Given the description of an element on the screen output the (x, y) to click on. 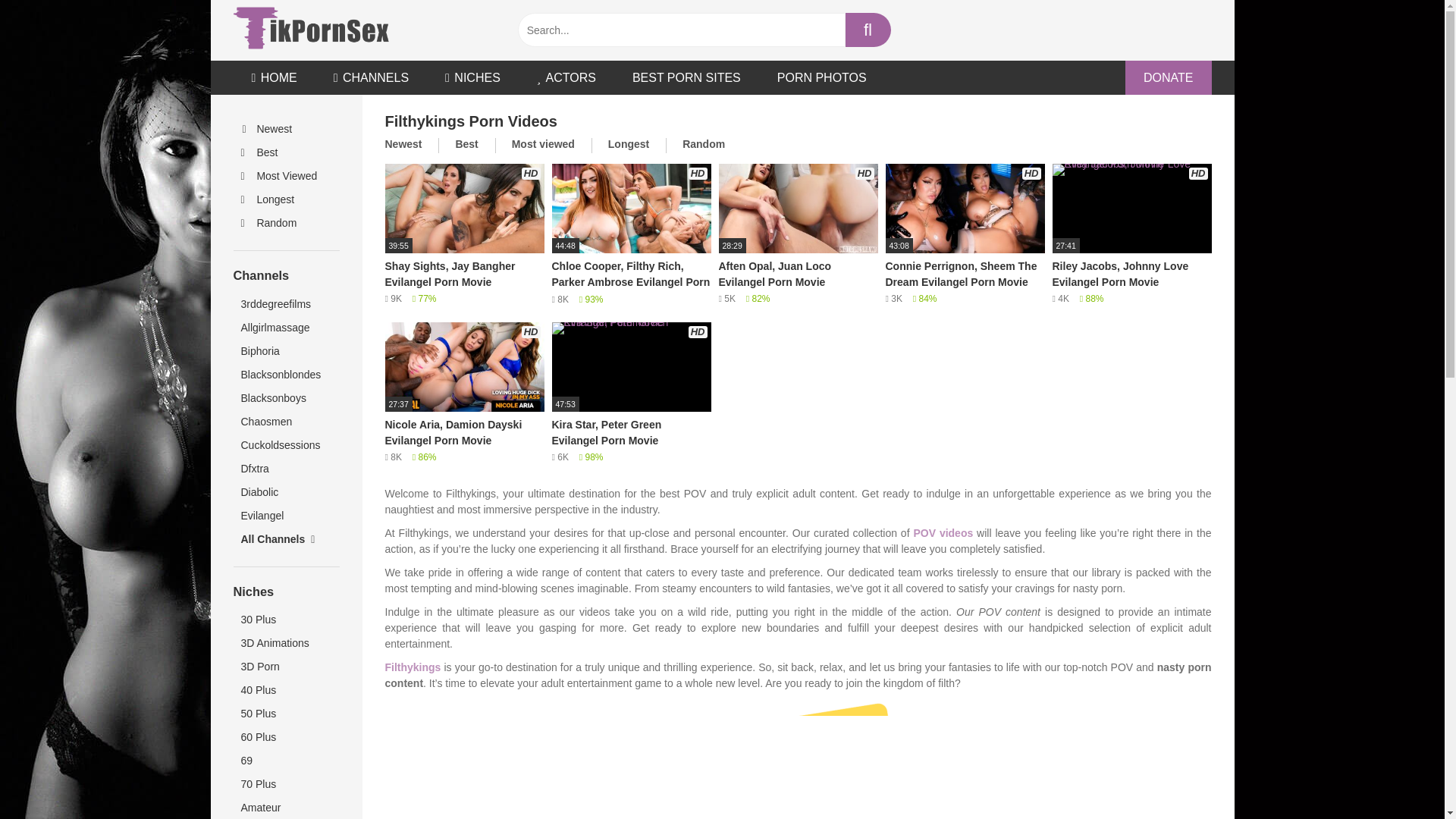
BEST PORN SITES (686, 77)
Connie Perrignon, Sheem The Dream Evilangel Porn Movie (965, 234)
Best (285, 152)
Kira Star, Peter Green Evilangel Porn Movie (631, 393)
Newest (285, 128)
Blacksonboys (285, 398)
40 Plus (285, 689)
NICHES (472, 77)
3D Animations (285, 643)
All channels (285, 539)
Longest (285, 199)
Riley Jacobs, Johnny Love Evilangel Porn Movie (1131, 234)
Biphoria (285, 351)
Diabolic (285, 492)
